Given the description of an element on the screen output the (x, y) to click on. 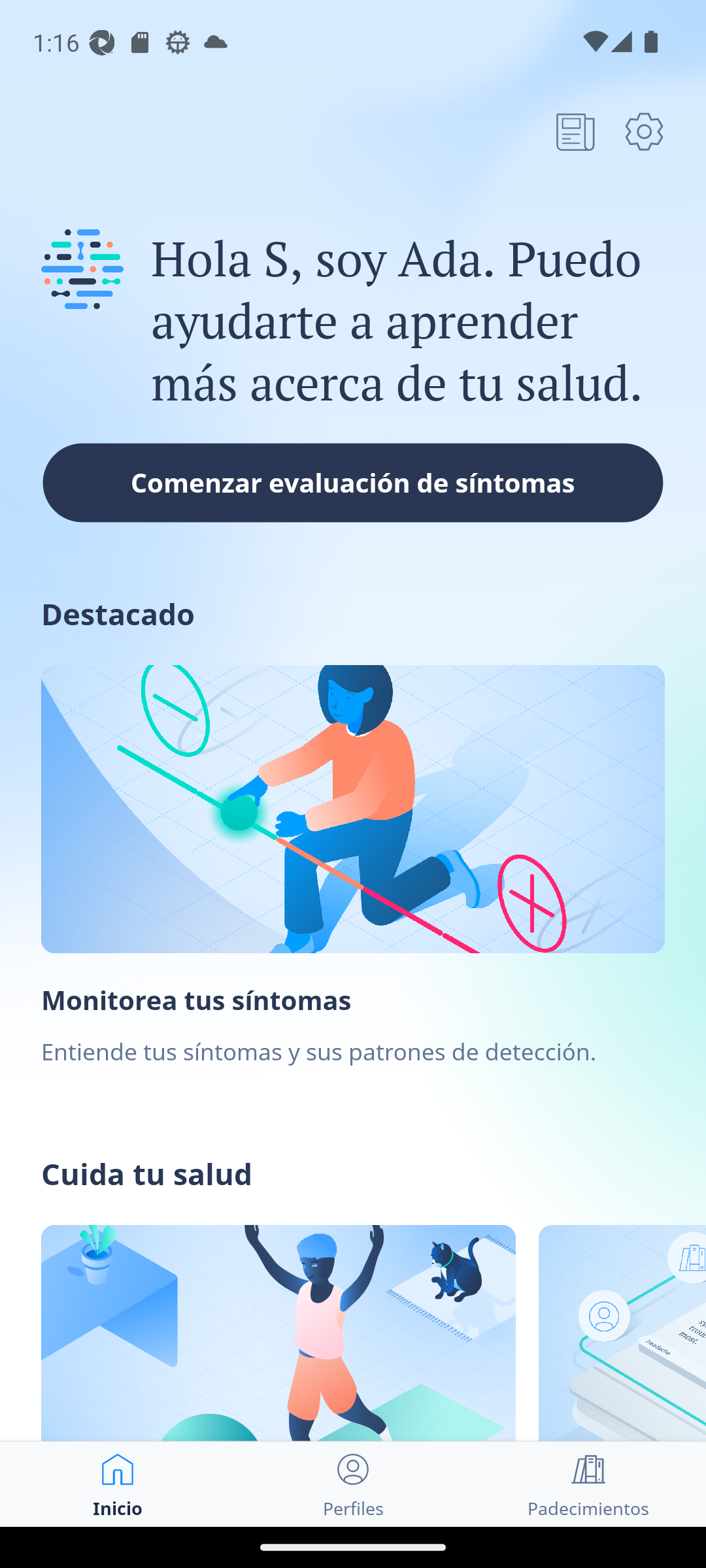
article icon , open articles (574, 131)
settings icon, open settings (644, 131)
Comenzar evaluación de síntomas (352, 482)
Inicio (117, 1484)
Perfiles (352, 1484)
Padecimientos (588, 1484)
